Given the description of an element on the screen output the (x, y) to click on. 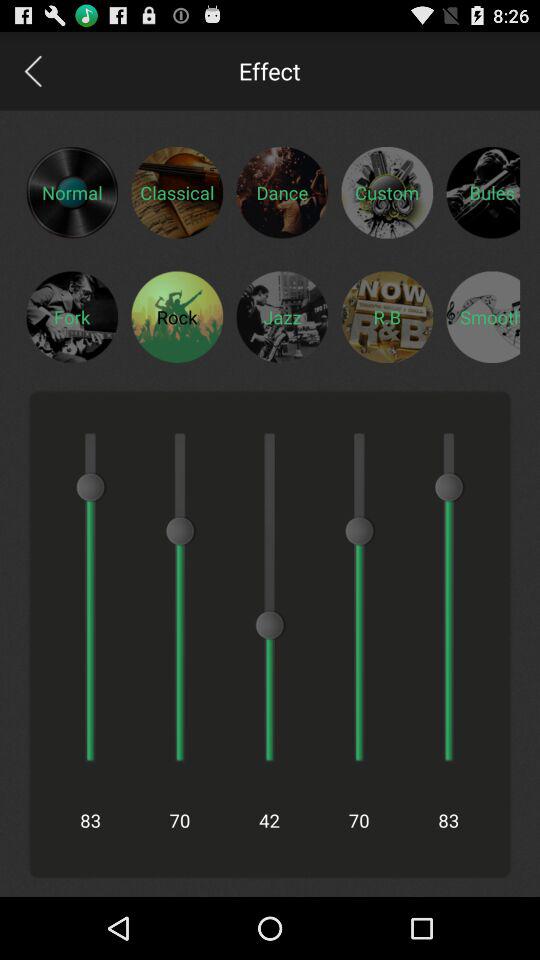
choice of a character (177, 316)
